Given the description of an element on the screen output the (x, y) to click on. 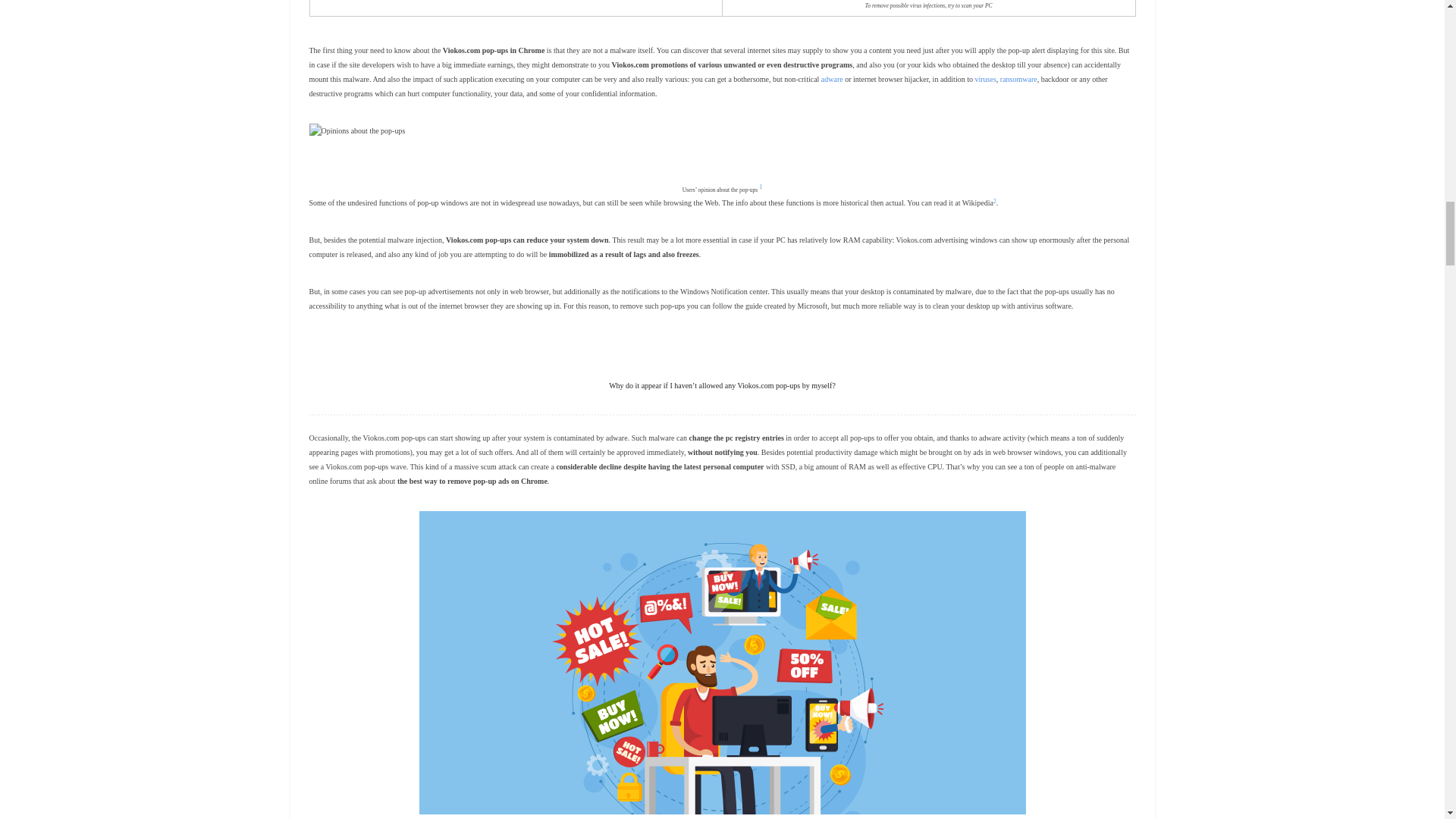
viruses (984, 79)
adware (832, 79)
ransomware (1018, 79)
